Given the description of an element on the screen output the (x, y) to click on. 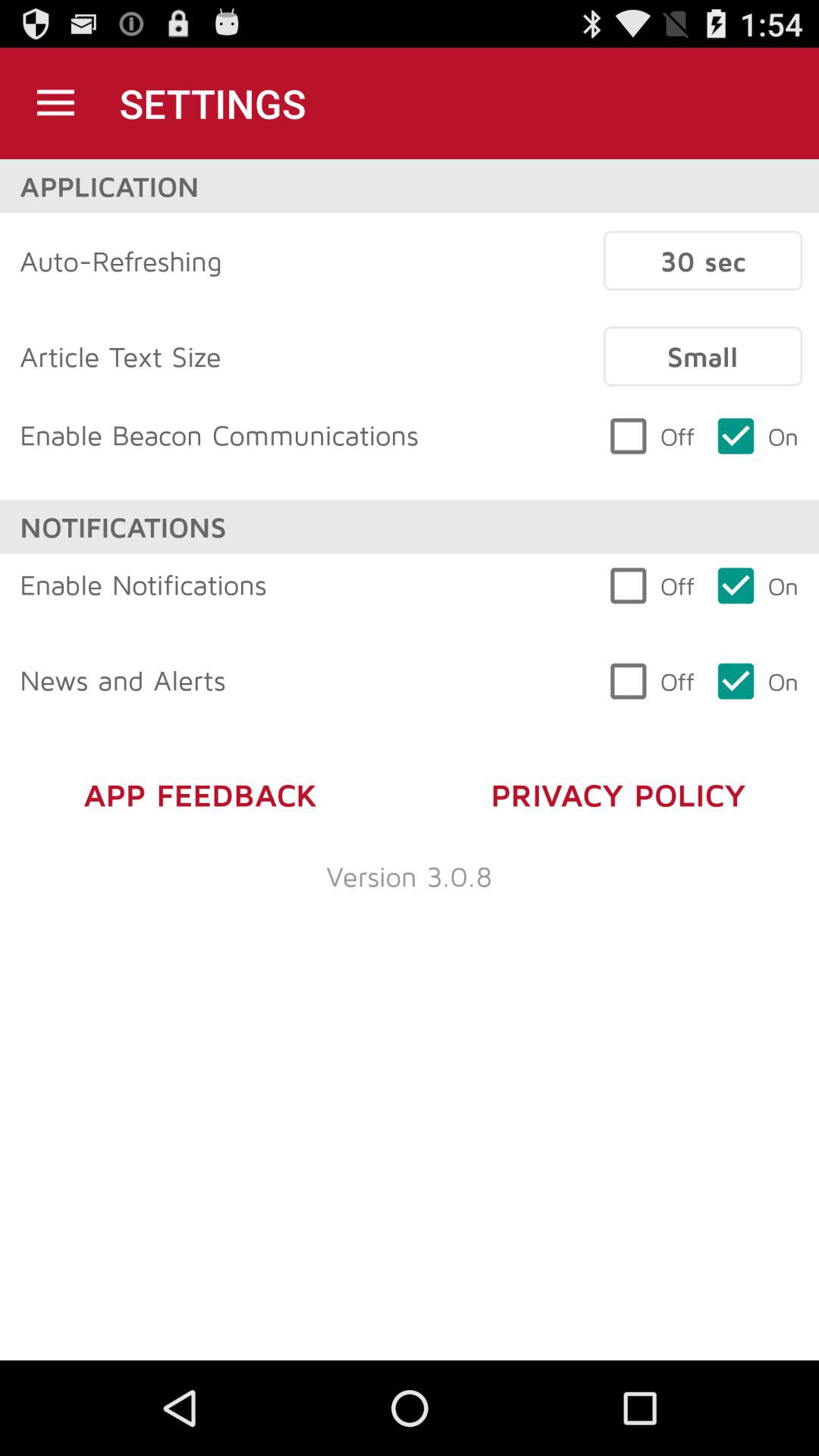
settings option (55, 103)
